Given the description of an element on the screen output the (x, y) to click on. 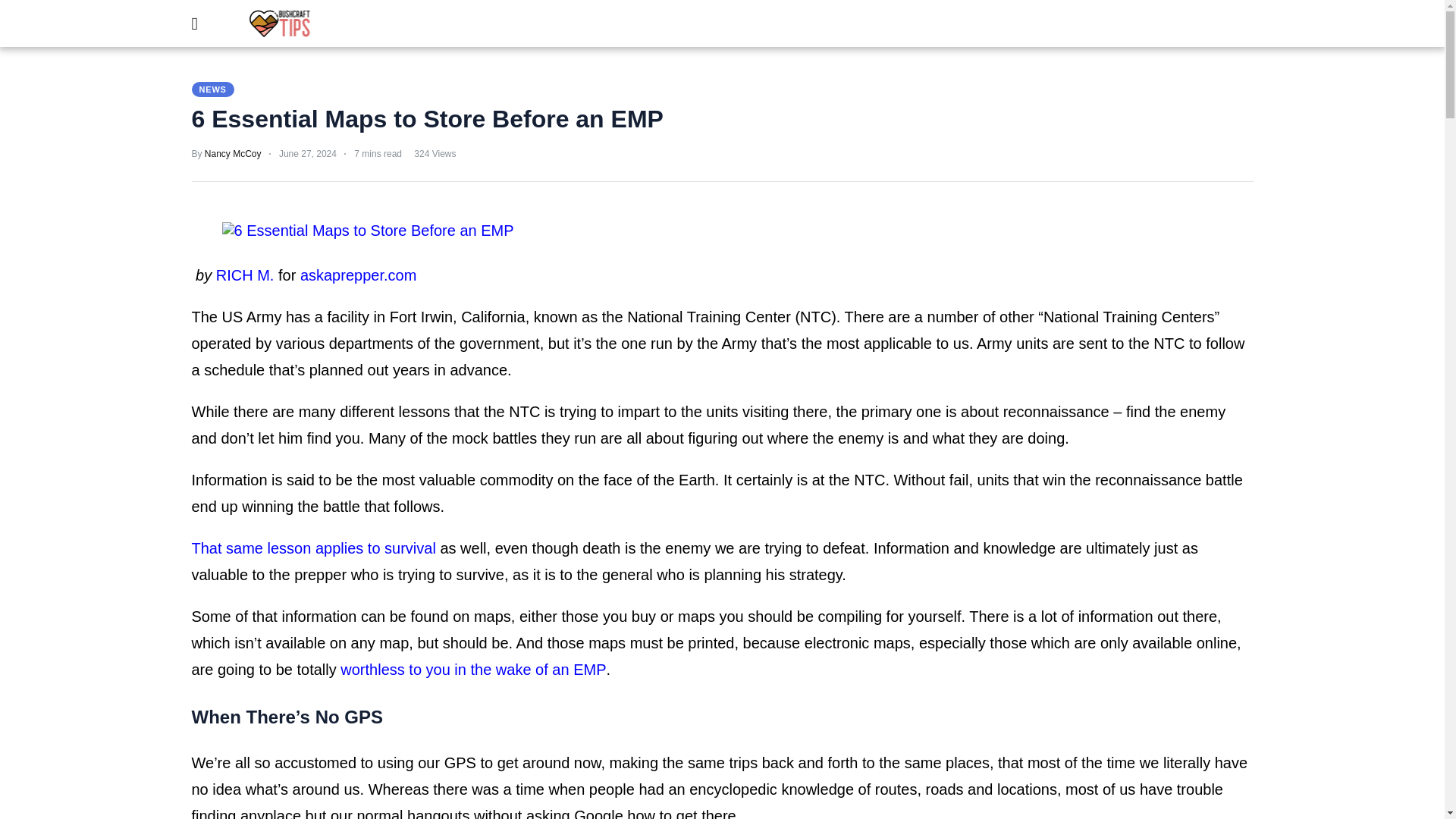
NEWS (211, 89)
SURVIVAL SKILLS (595, 25)
Nancy McCoy (233, 153)
askaprepper.com (357, 274)
That same lesson applies to survival (312, 547)
TOOLS (684, 25)
RICH M. (245, 274)
WHAT IS BUSHCRAFT (463, 25)
VIDEOS (791, 25)
worthless to you in the wake of an EMP (472, 669)
